Given the description of an element on the screen output the (x, y) to click on. 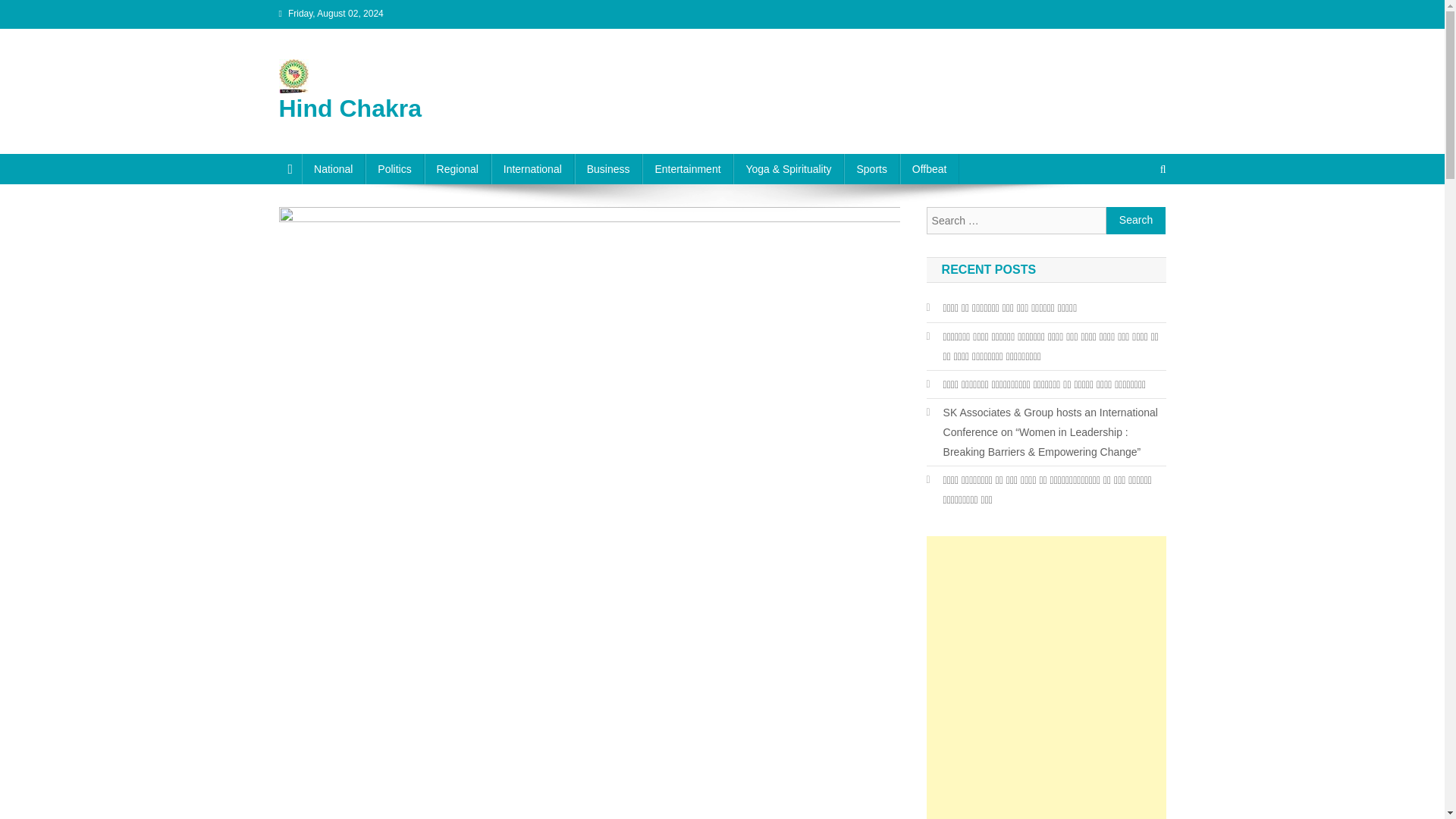
Advertisement (1046, 697)
International (532, 168)
Search (1136, 220)
National (333, 168)
Skip to content (34, 9)
Sports (871, 168)
Regional (457, 168)
Entertainment (687, 168)
Search (1136, 220)
Offbeat (929, 168)
